Given the description of an element on the screen output the (x, y) to click on. 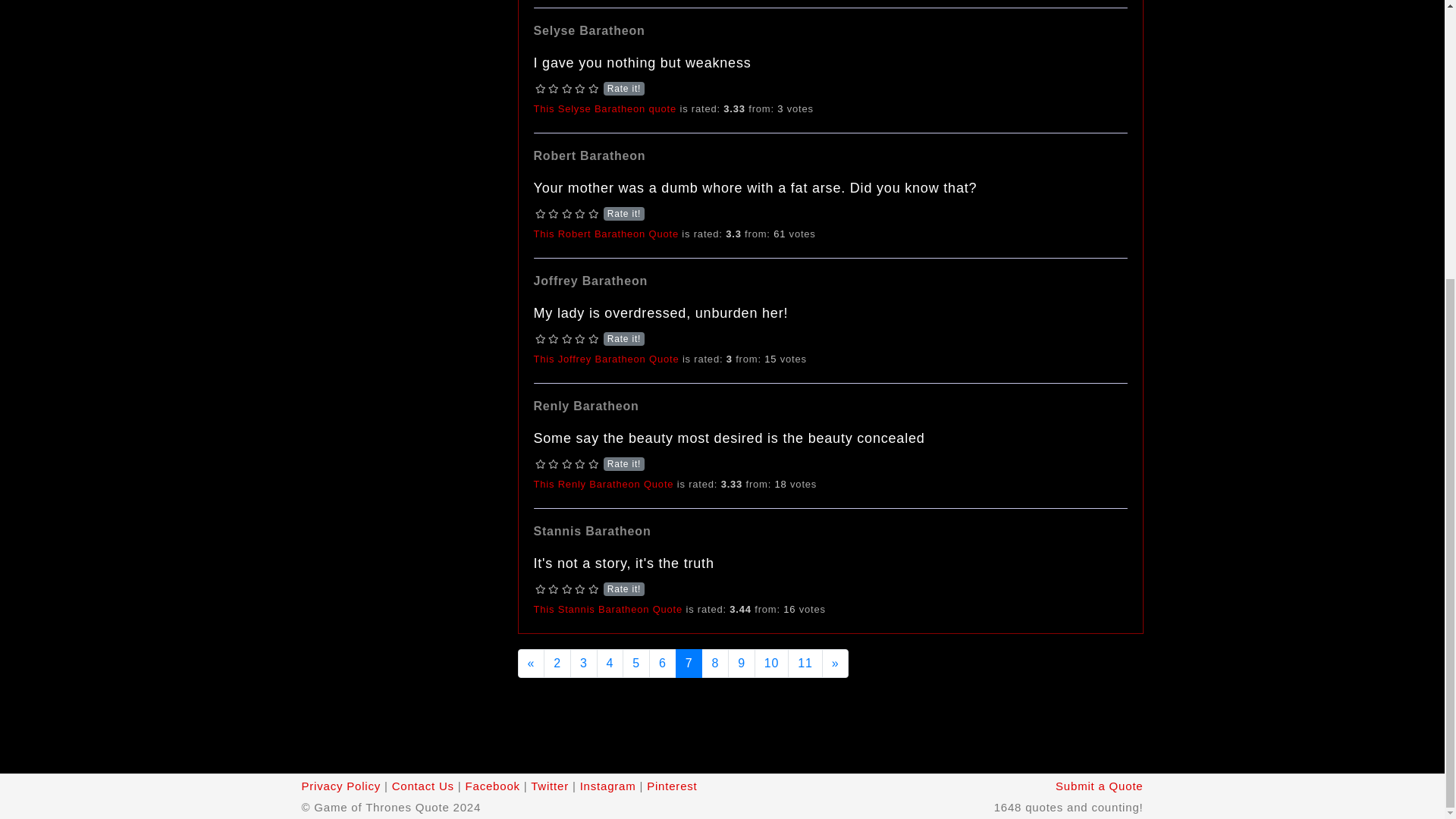
My lady is overdressed, unburden her! (606, 358)
Some say the beauty most desired is the beauty concealed (604, 483)
Advertisement (829, 724)
I gave you nothing but weakness (605, 108)
Rate it! (566, 213)
Rate it! (566, 338)
Rate it! (566, 589)
Rate it! (566, 463)
Rate it! (566, 88)
It's not a story, it's the truth (608, 609)
